Given the description of an element on the screen output the (x, y) to click on. 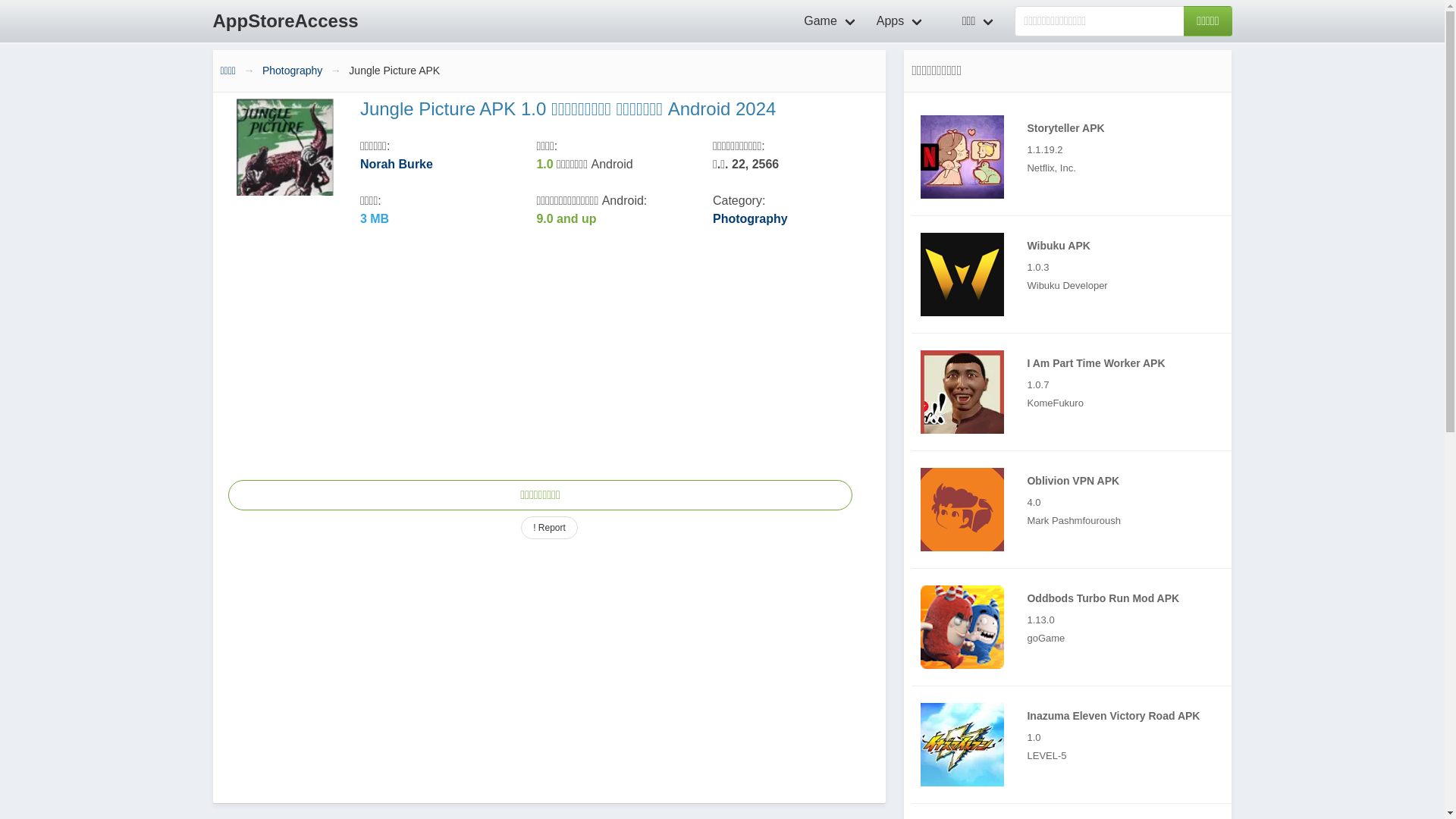
Game (830, 21)
I Am Part Time Worker APK (1075, 392)
Oblivion VPN APK (962, 509)
Storyteller APK (1075, 156)
AppStoreAccess (284, 21)
Storyteller APK (962, 157)
I Am Part Time Worker APK (962, 392)
Apps (900, 21)
Wibuku APK (962, 274)
Wibuku APK (1075, 274)
Report Problem for this APP (549, 527)
Oddbods Turbo Run Mod APK (1075, 627)
Oddbods Turbo Run Mod APK (962, 627)
